Given the description of an element on the screen output the (x, y) to click on. 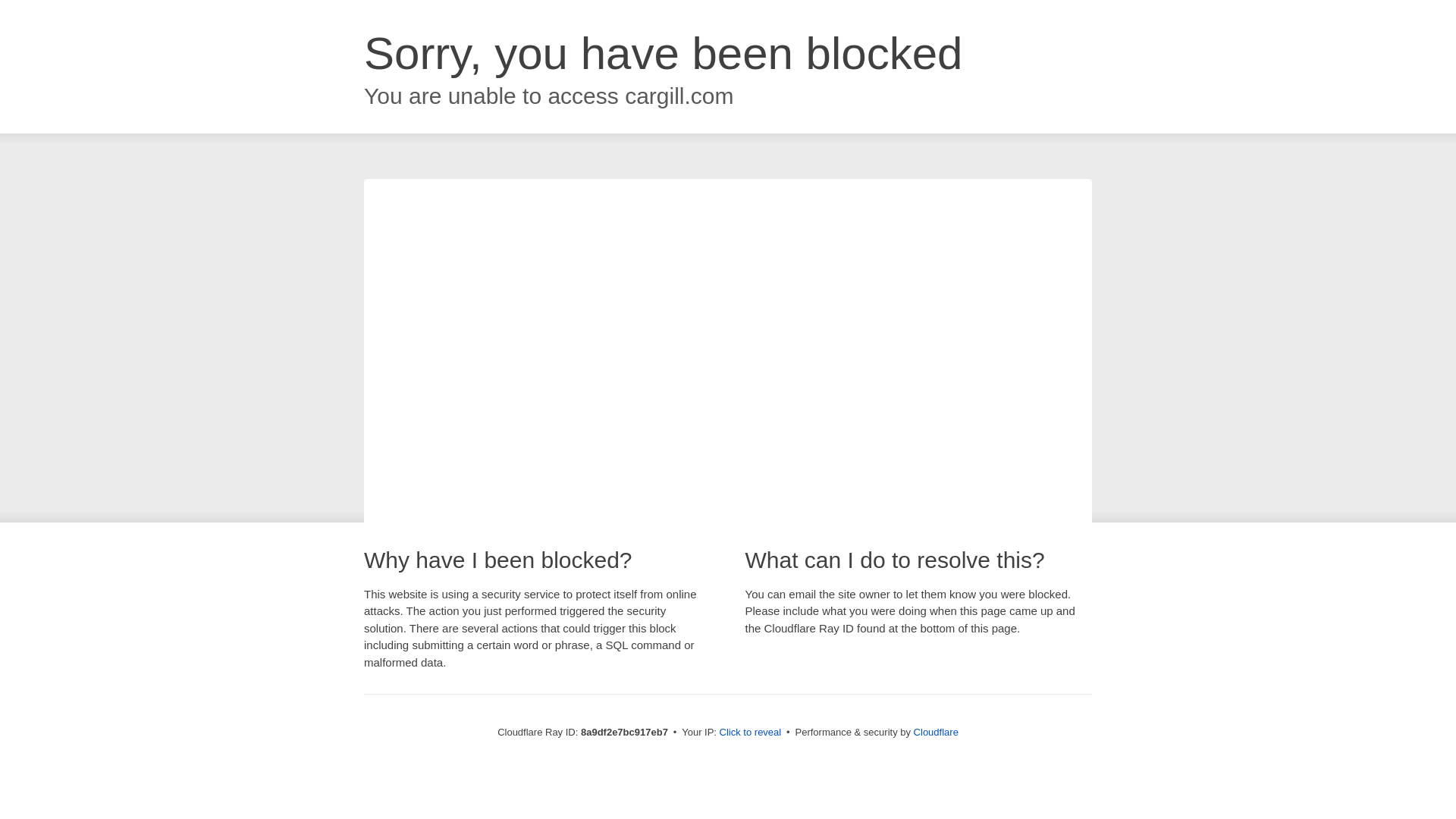
Cloudflare (936, 731)
Click to reveal (750, 732)
